Given the description of an element on the screen output the (x, y) to click on. 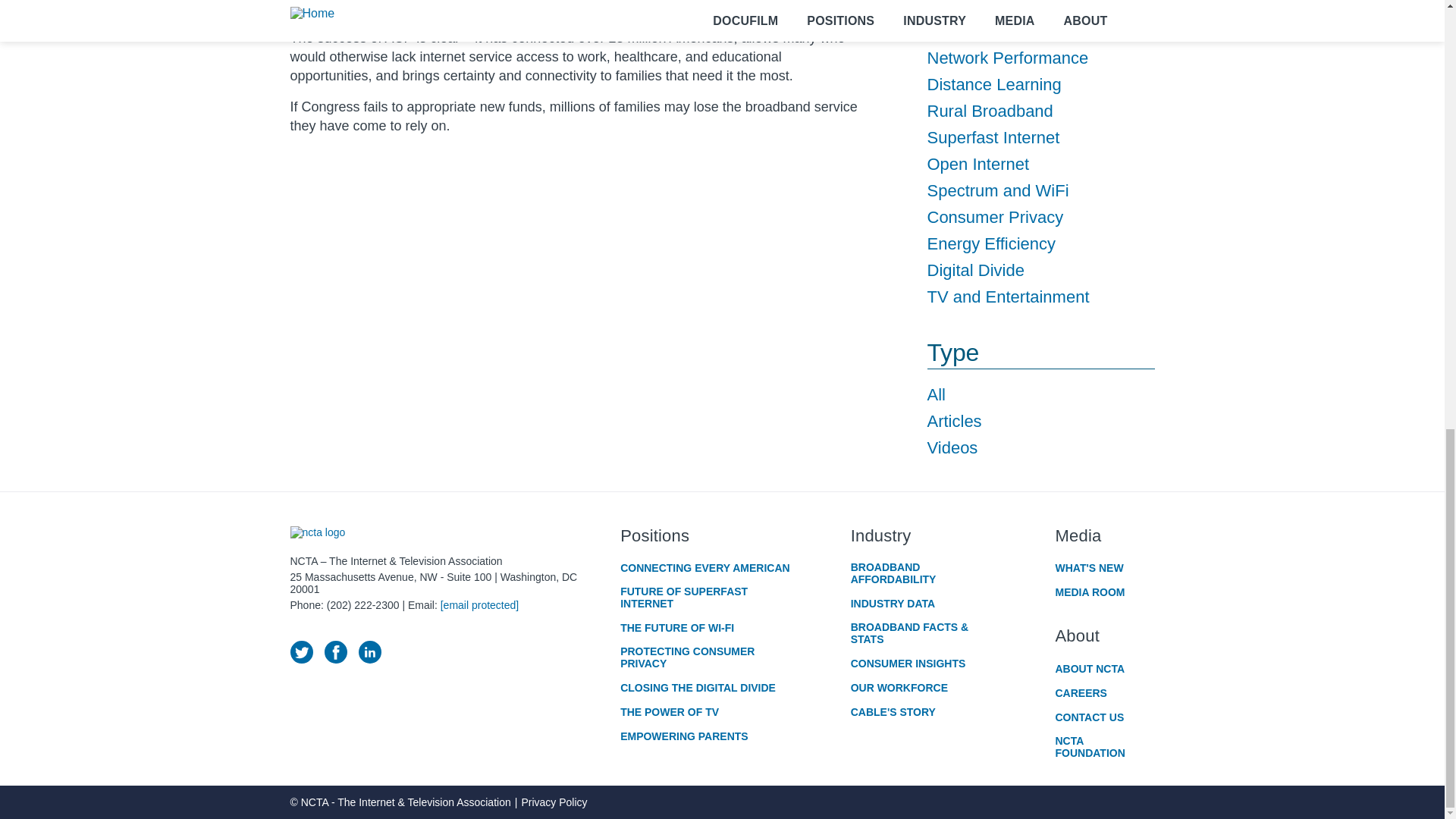
NCTA Foundation (1104, 746)
